Given the description of an element on the screen output the (x, y) to click on. 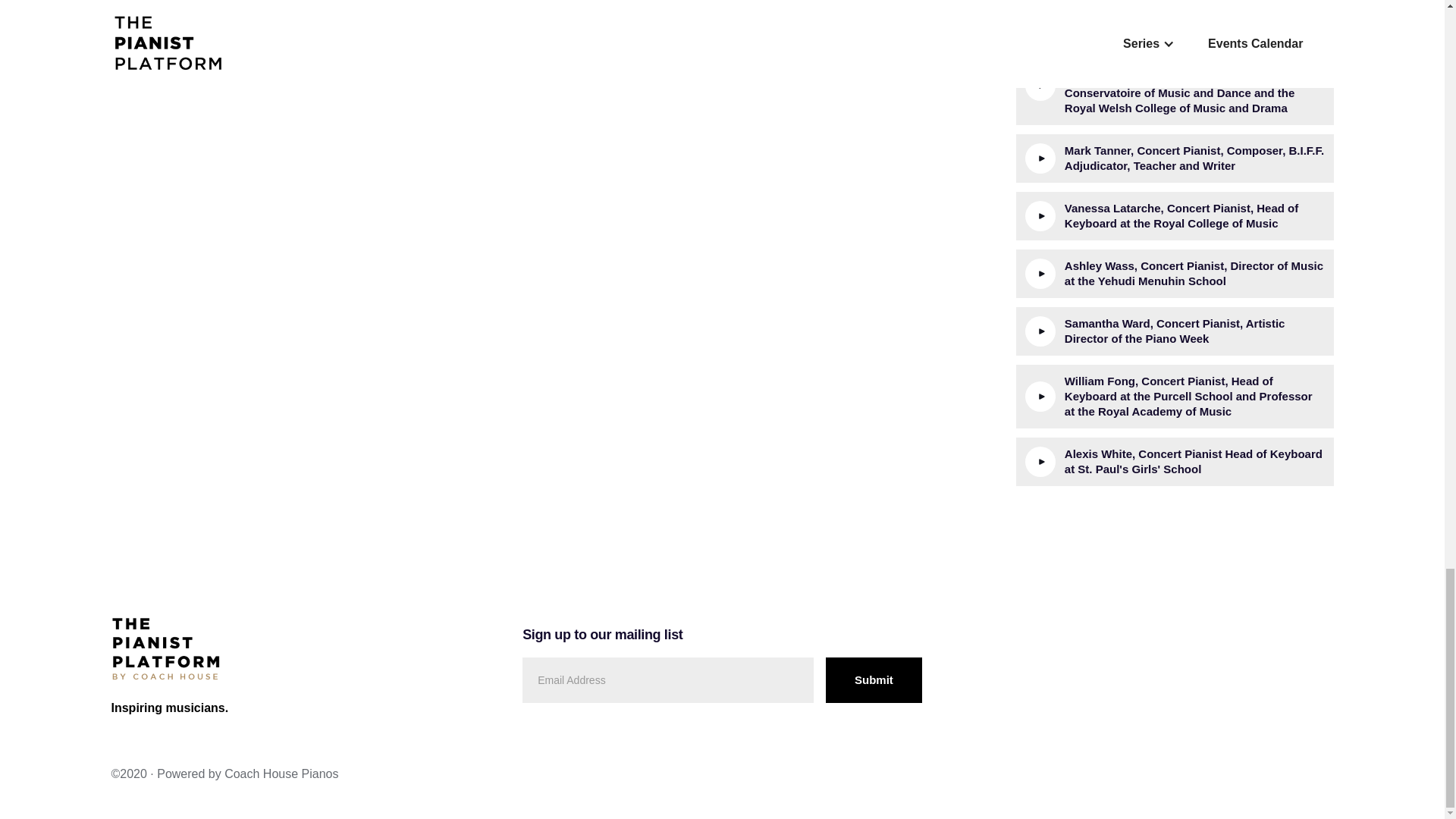
Submit (873, 679)
